Given the description of an element on the screen output the (x, y) to click on. 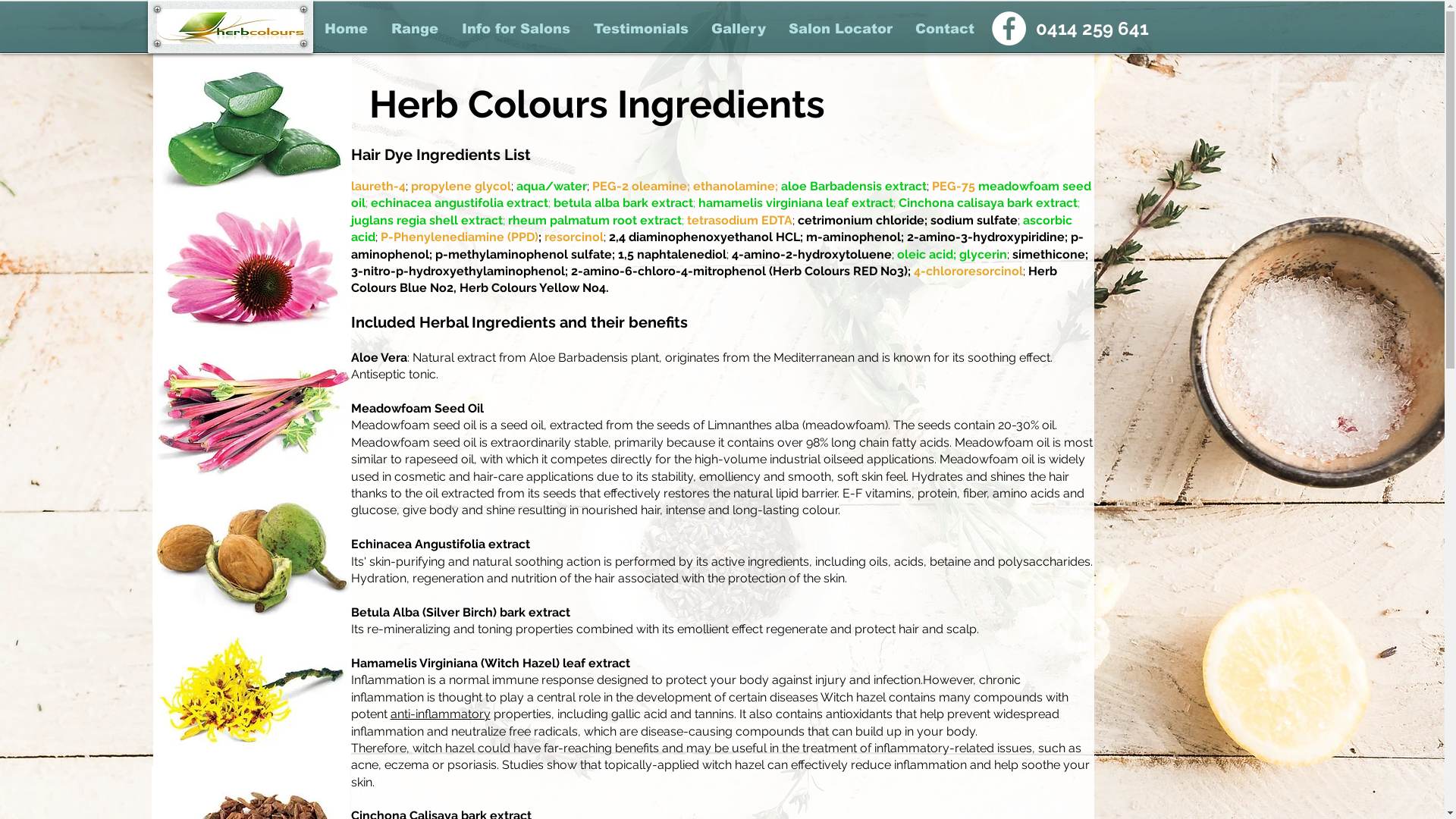
Info for Salons Element type: text (516, 29)
fatty acids Element type: text (920, 442)
Salon Locator Element type: text (839, 29)
rapeseed oil Element type: text (438, 458)
Home Element type: text (345, 29)
Range Element type: text (414, 29)
Gallery Element type: text (737, 29)
Contact Element type: text (944, 29)
Limnanthes alba Element type: text (752, 424)
Testimonials Element type: text (640, 29)
seed oil Element type: text (521, 424)
anti-inflammatory Element type: text (439, 713)
